Given the description of an element on the screen output the (x, y) to click on. 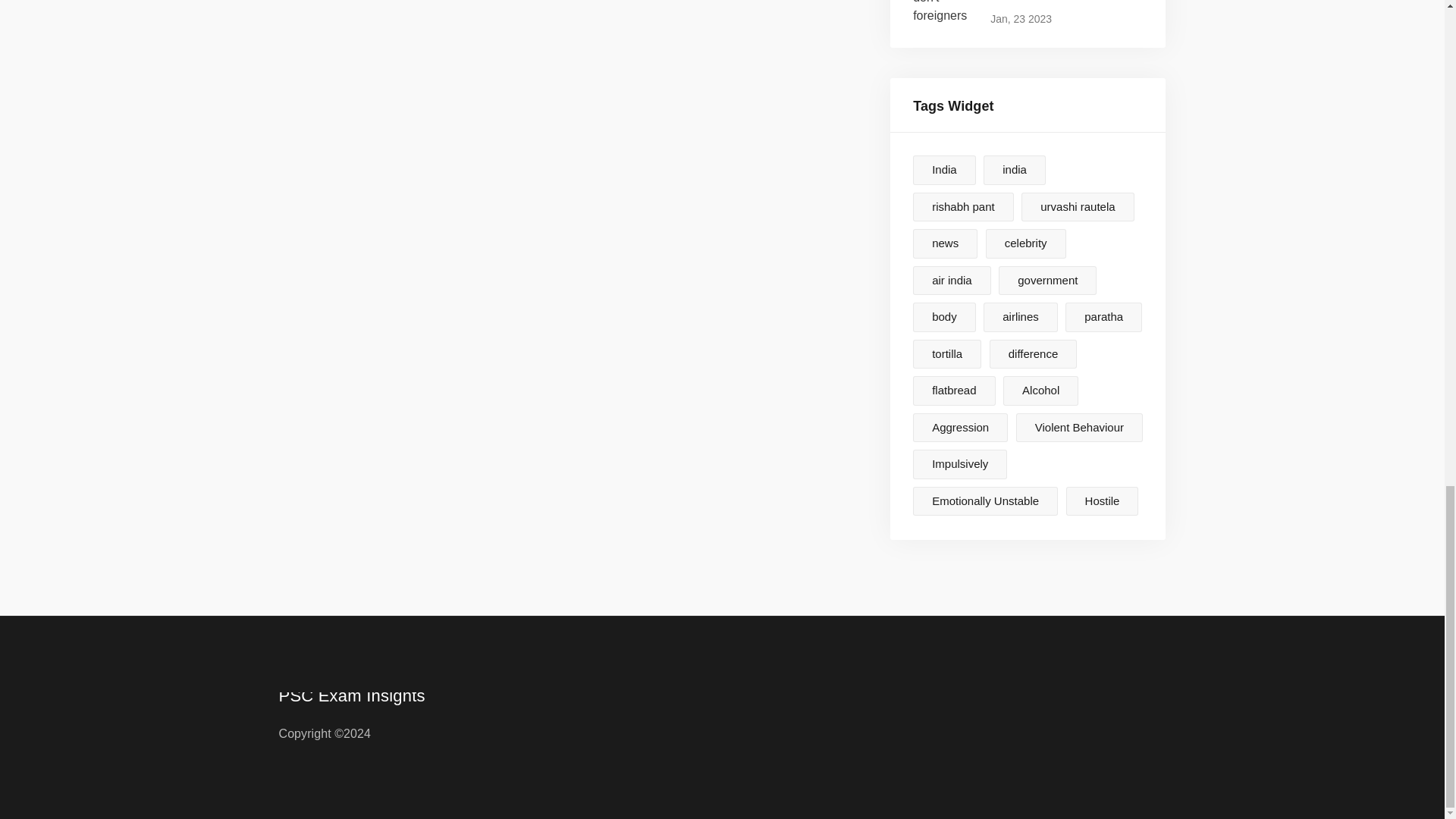
india (1014, 170)
body (943, 317)
government (1047, 280)
rishabh pant (962, 206)
news (944, 243)
Violent Behaviour (1027, 12)
Aggression (1079, 428)
India (959, 428)
paratha (943, 170)
flatbread (1103, 317)
tortilla (953, 390)
airlines (946, 354)
air india (1021, 317)
difference (951, 280)
